Given the description of an element on the screen output the (x, y) to click on. 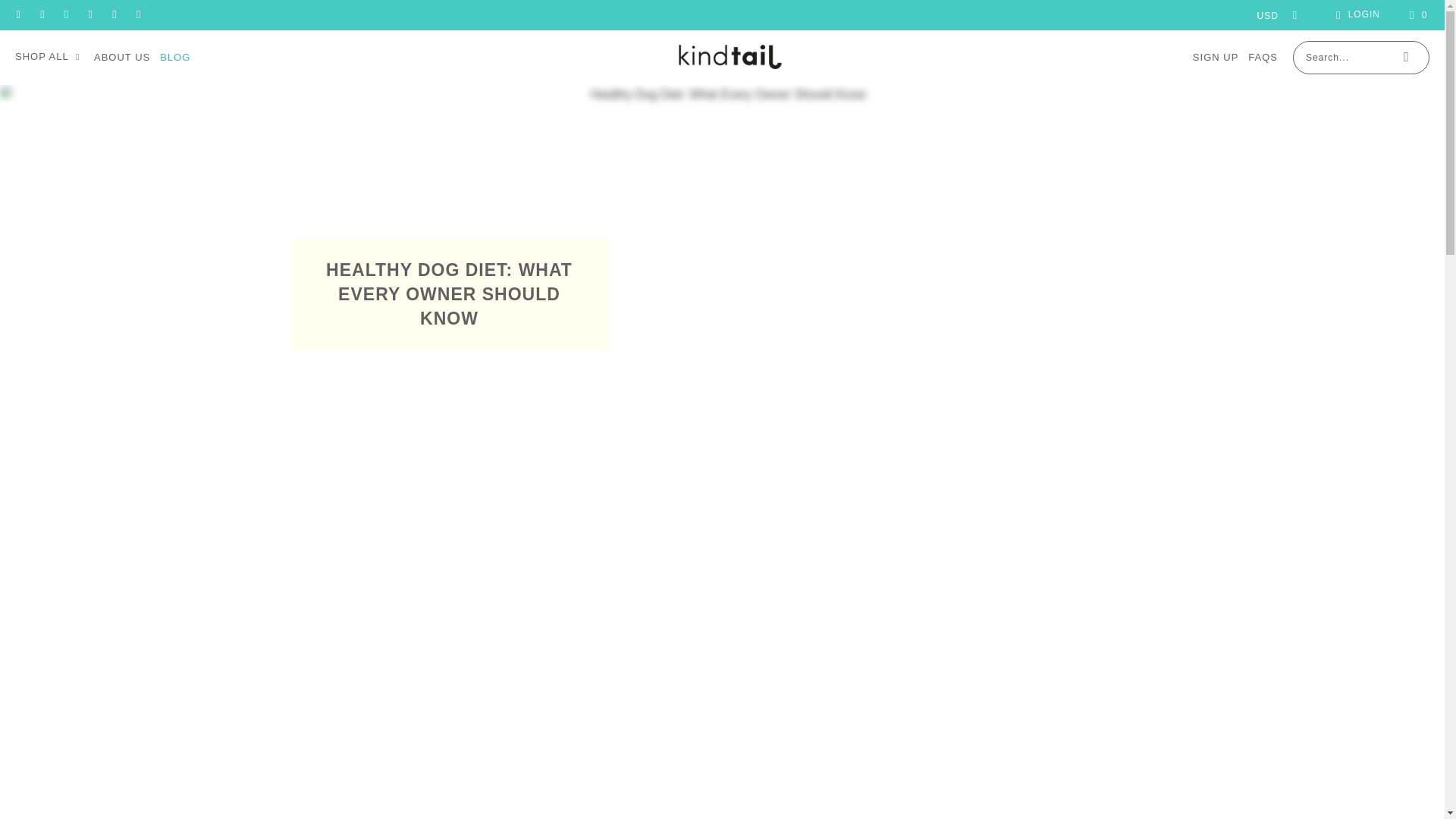
USD (1272, 15)
KindTail on YouTube (138, 14)
My Account  (1355, 14)
LOGIN (1355, 14)
KindTail on Pinterest (89, 14)
KindTail on TikTok (113, 14)
Email KindTail (17, 14)
KindTail (729, 57)
KindTail on Facebook (41, 14)
KindTail on Instagram (65, 14)
